Given the description of an element on the screen output the (x, y) to click on. 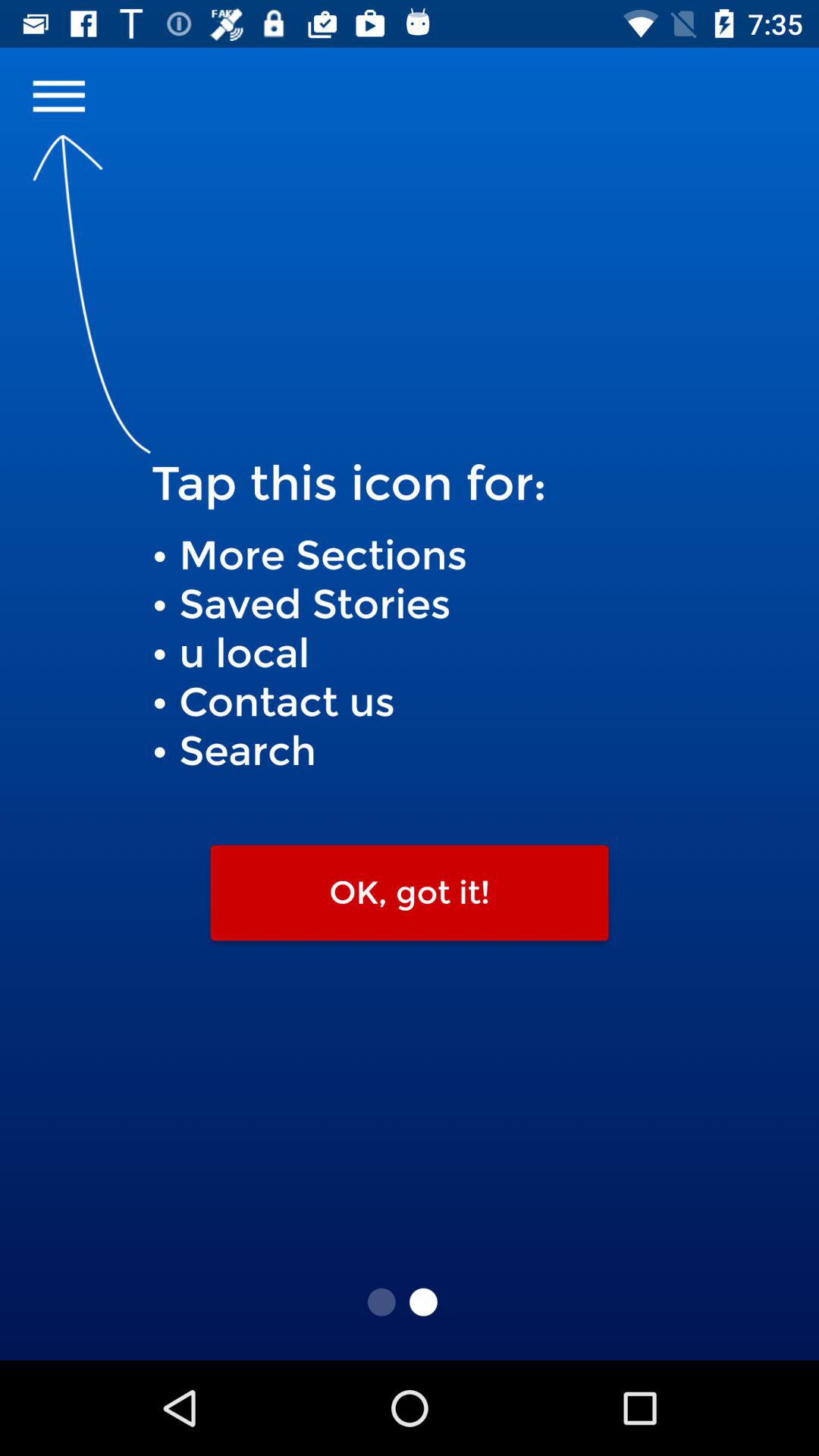
turn on the icon below more sections saved (409, 892)
